Given the description of an element on the screen output the (x, y) to click on. 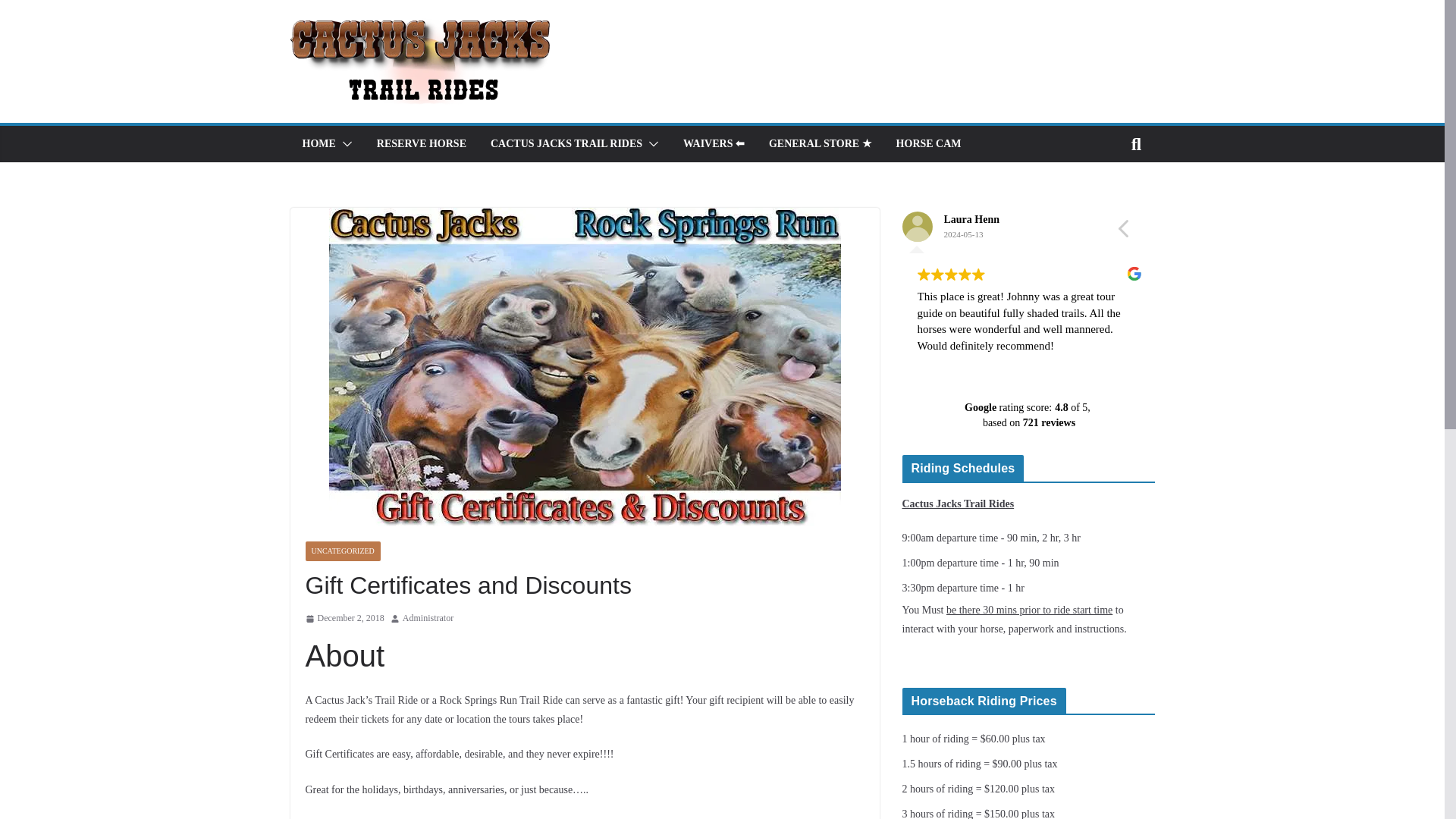
UNCATEGORIZED (342, 551)
HORSE CAM (928, 143)
December 2, 2018 (344, 618)
CACTUS JACKS TRAIL RIDES (566, 143)
Administrator (427, 618)
Administrator (427, 618)
5:01 pm (344, 618)
Gift Cards (358, 817)
RESERVE HORSE (421, 143)
HOME (317, 143)
